Given the description of an element on the screen output the (x, y) to click on. 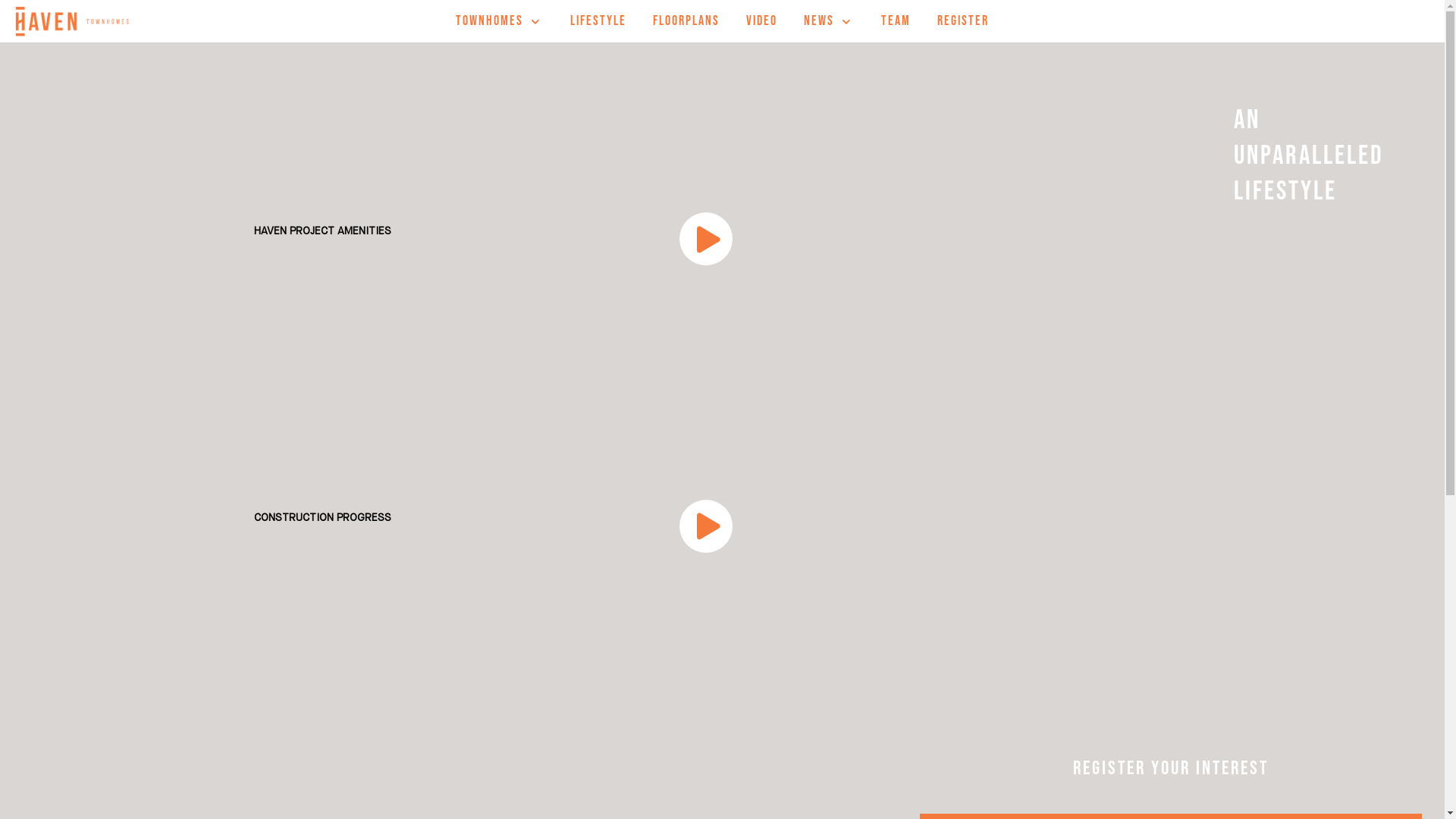
Haven Townhomes Element type: hover (71, 21)
NEWS Element type: text (828, 21)
LIFESTYLE Element type: text (598, 21)
VIDEO Element type: text (761, 21)
FLOORPLANS Element type: text (685, 21)
REGISTER Element type: text (962, 21)
TOWNHOMES Element type: text (499, 21)
Skip to content Element type: text (15, 31)
TEAM Element type: text (895, 21)
